Given the description of an element on the screen output the (x, y) to click on. 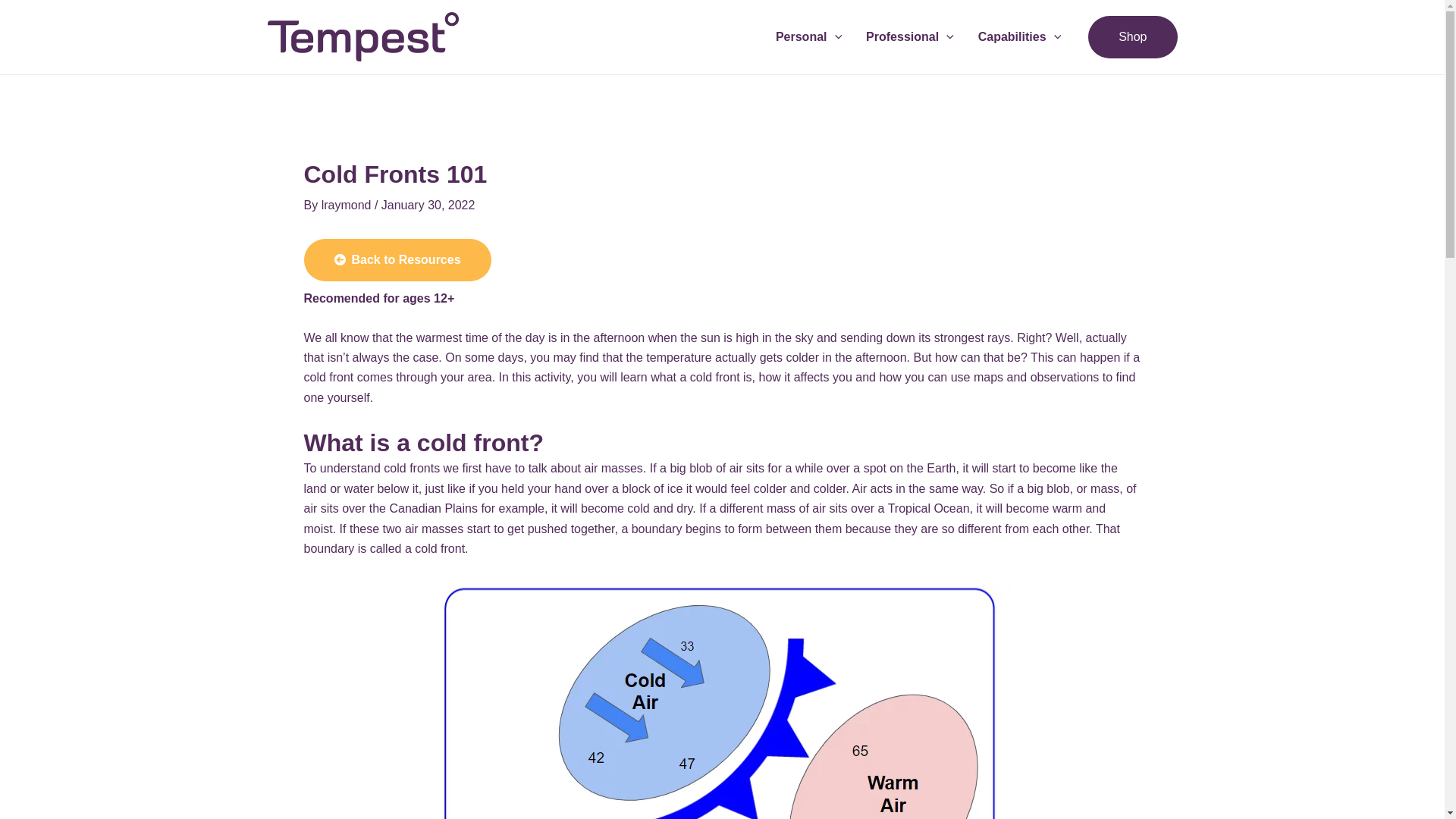
Personal (807, 36)
Shop (1131, 36)
Professional (909, 36)
View all posts by lraymond (347, 205)
Capabilities (1019, 36)
